Given the description of an element on the screen output the (x, y) to click on. 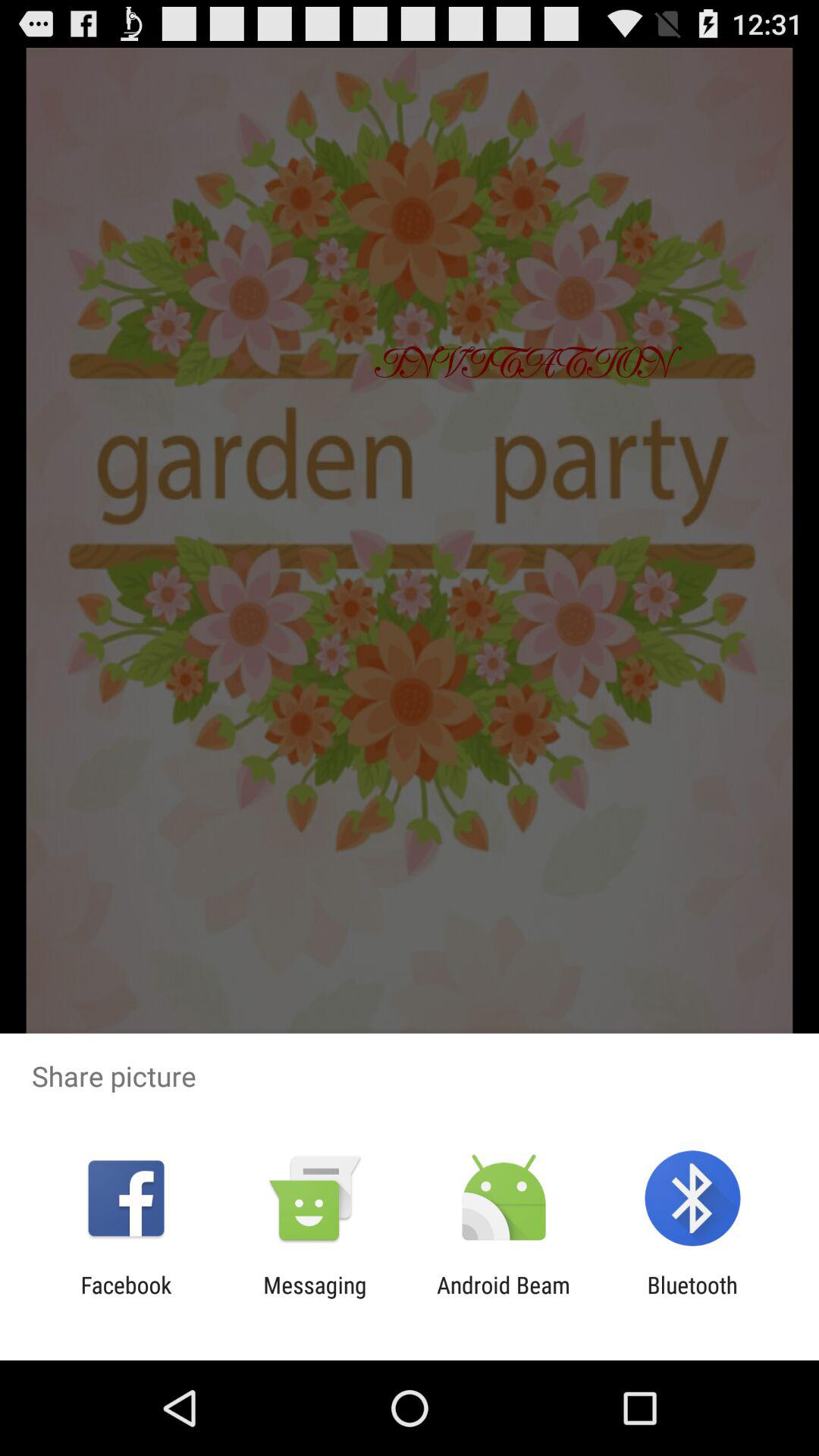
press the facebook icon (125, 1298)
